Given the description of an element on the screen output the (x, y) to click on. 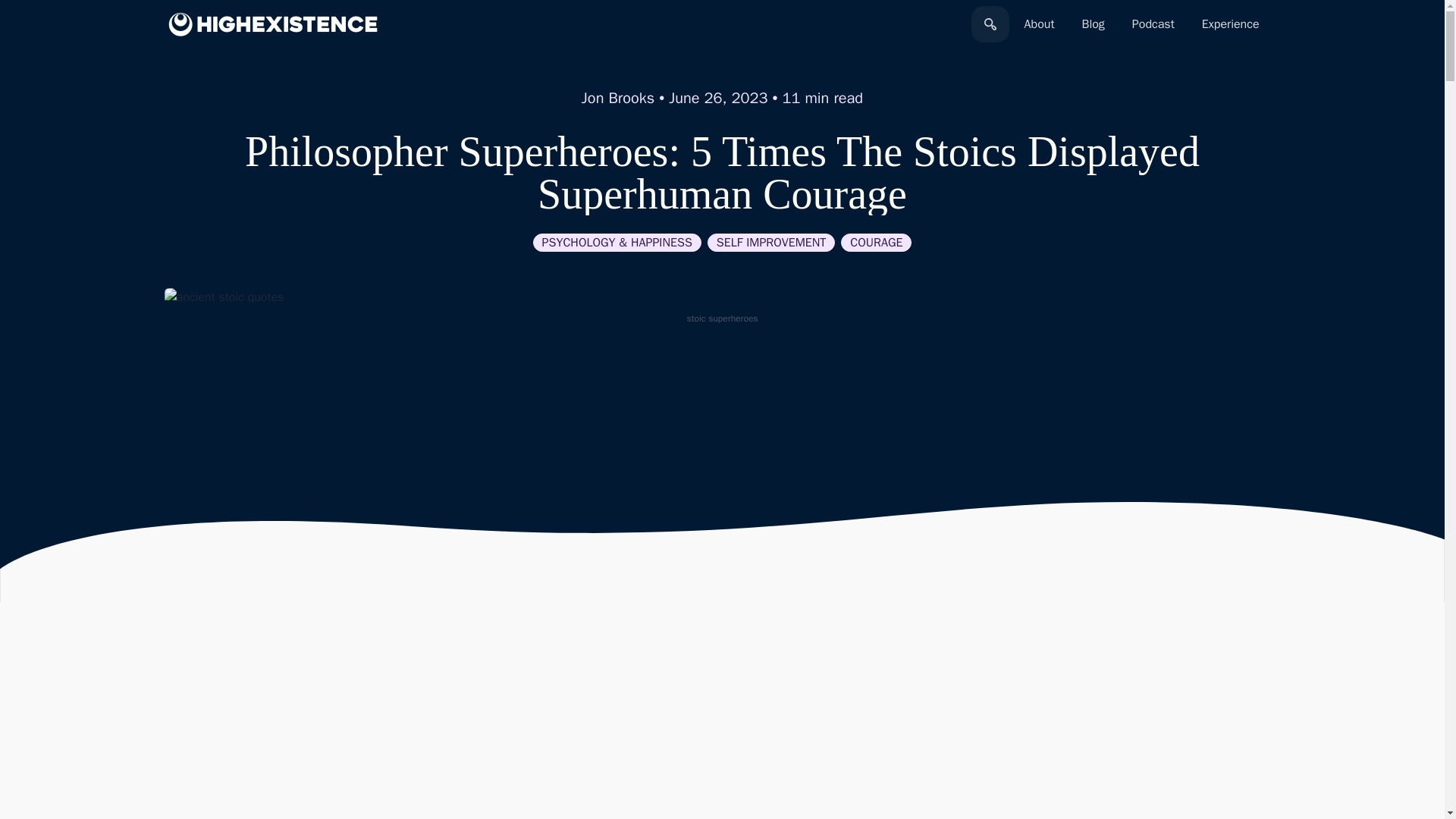
Jon Brooks (616, 97)
About (1039, 23)
Blog (1092, 23)
SELF IMPROVEMENT (771, 242)
Jon Brooks (616, 97)
About (1039, 23)
Podcast (1152, 23)
Podcast (1152, 23)
COURAGE (876, 242)
Experience (1230, 23)
